Given the description of an element on the screen output the (x, y) to click on. 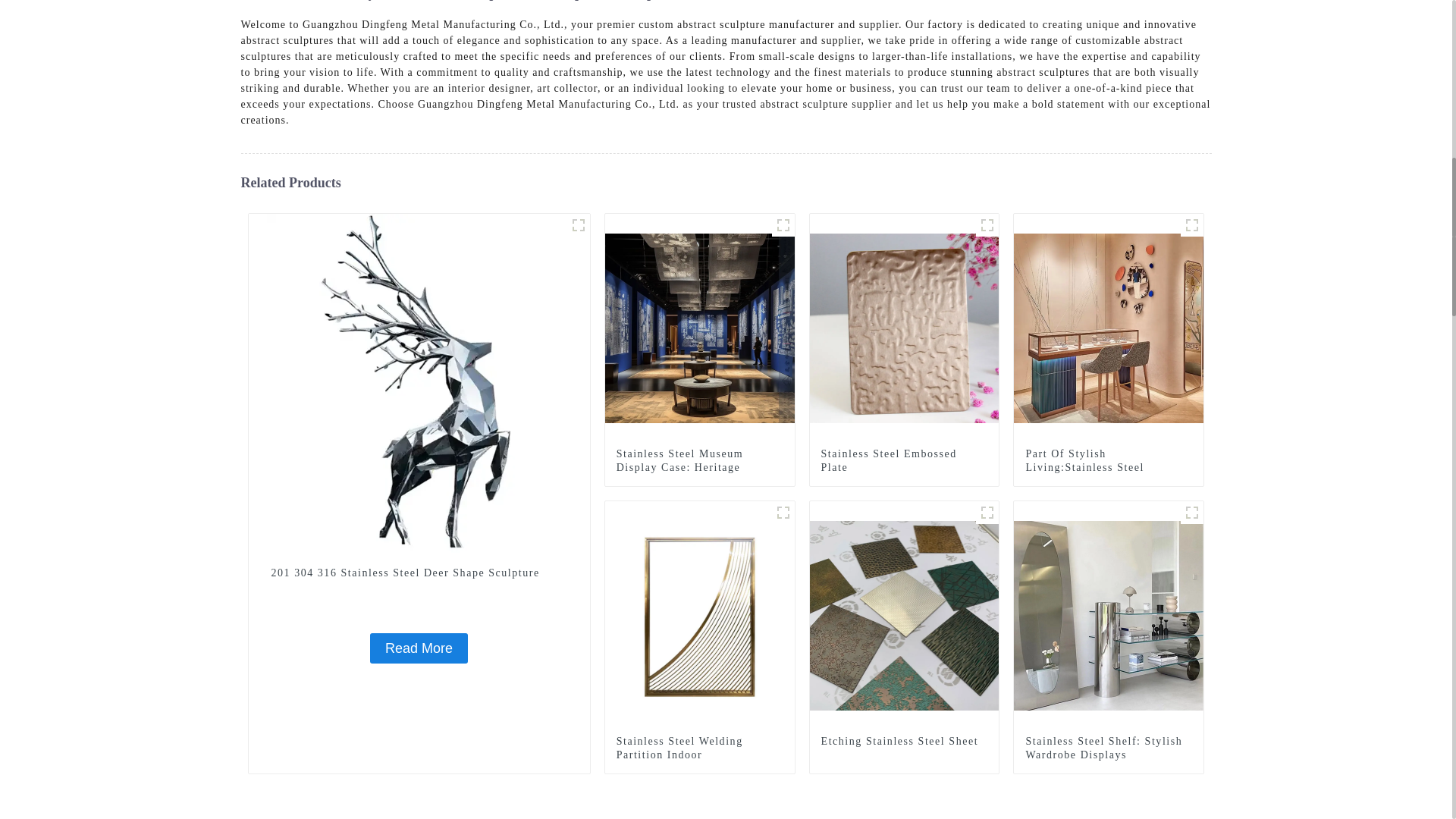
Stainless Steel Museum Display Case: Heritage Preservation (699, 327)
Stainless Steel Museum Display Case: Heritage Preservation (699, 467)
201 304 316 Stainless Steel Deer Shape Sculpture (418, 648)
Part Of Stylish Living:Stainless Steel Jewellery Cabinets (1108, 467)
Stainless Steel Embossed Plate (904, 461)
Part Of Stylish Living:Stainless Steel Jewellery Cabinets (1108, 467)
Stainless Steel Embossed Plate (903, 327)
Part Of Stylish Living:Stainless Steel Jewellery Cabinets (1108, 327)
Stainless Steel Museum Display Case: Heritage Preservation (699, 467)
Etching Stainless Steel Sheet (904, 741)
